Given the description of an element on the screen output the (x, y) to click on. 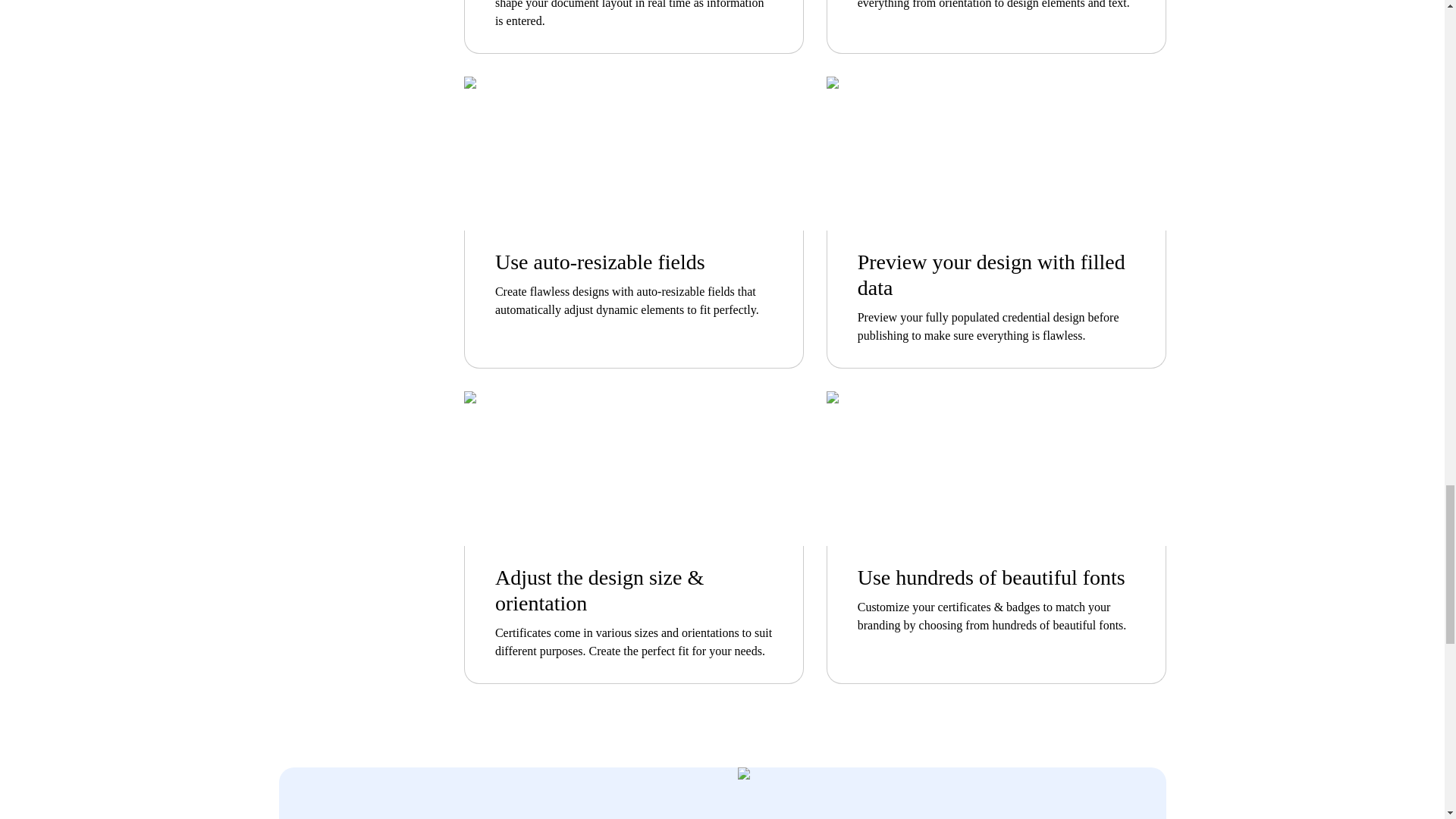
Preview design - Certifier features (996, 153)
Fonts - Certifier features (996, 468)
Orientation size - Certifier features (633, 468)
Auto resizable fields - Certifier features (633, 153)
create-and-send-digital-credentials-cta-blue (952, 793)
